Given the description of an element on the screen output the (x, y) to click on. 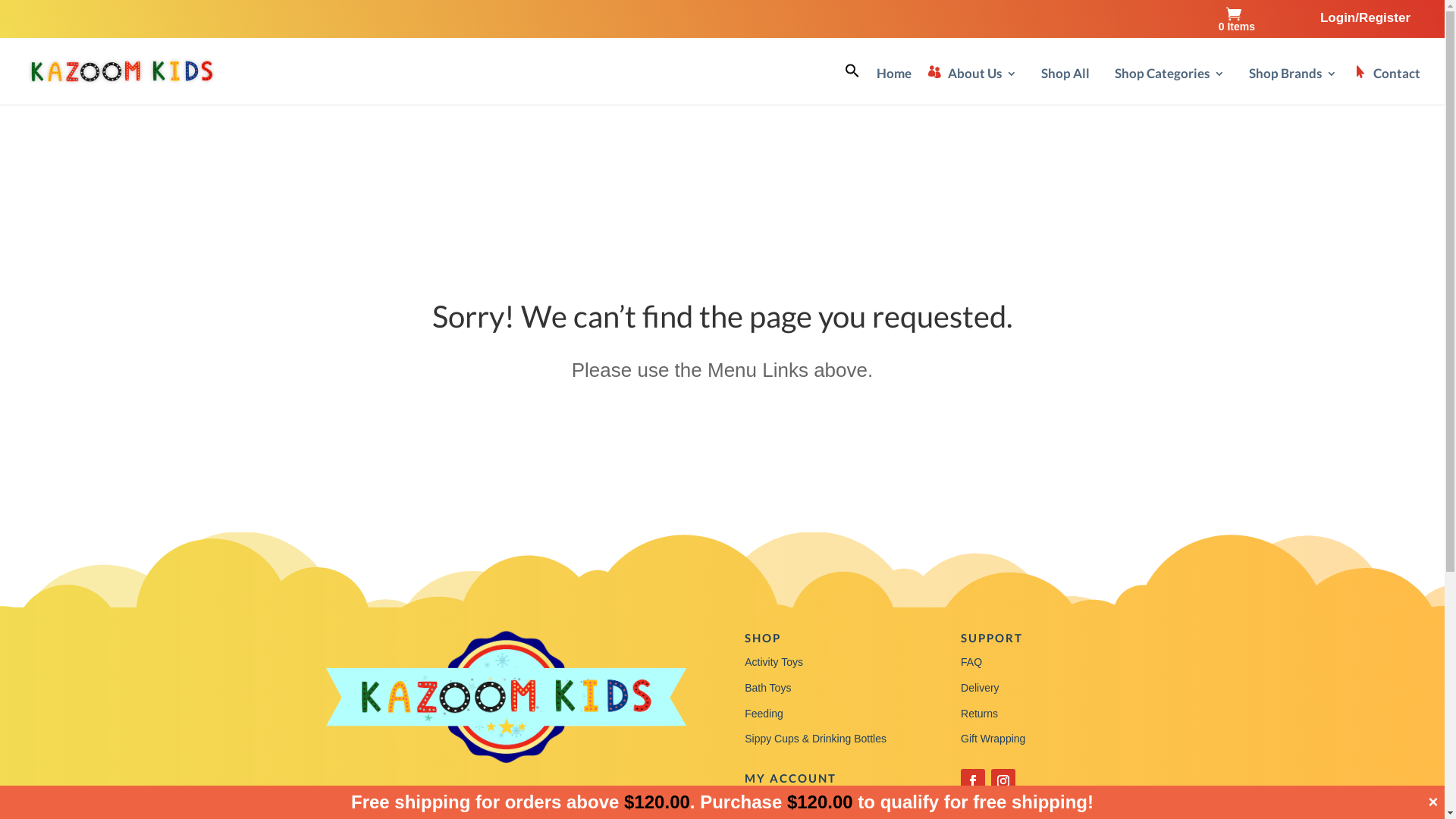
Shop All Element type: text (1061, 85)
Contact Element type: text (1386, 85)
Login/Register Element type: text (1365, 23)
Gift Wrapping Element type: text (992, 738)
Activity Toys Element type: text (773, 661)
FAQ Element type: text (971, 661)
Follow on Facebook Element type: hover (972, 780)
About Us Element type: text (972, 85)
Follow on Instagram Element type: hover (1003, 780)
Shop Categories Element type: text (1164, 85)
Bath Toys Element type: text (767, 687)
Search Element type: text (820, 86)
Sippy Cups & Drinking Bottles Element type: text (815, 738)
Delivery Element type: text (979, 687)
Shop Brands Element type: text (1288, 85)
Returns Element type: text (978, 713)
Login Element type: text (757, 803)
Feeding Element type: text (763, 713)
Home Element type: text (893, 85)
